Given the description of an element on the screen output the (x, y) to click on. 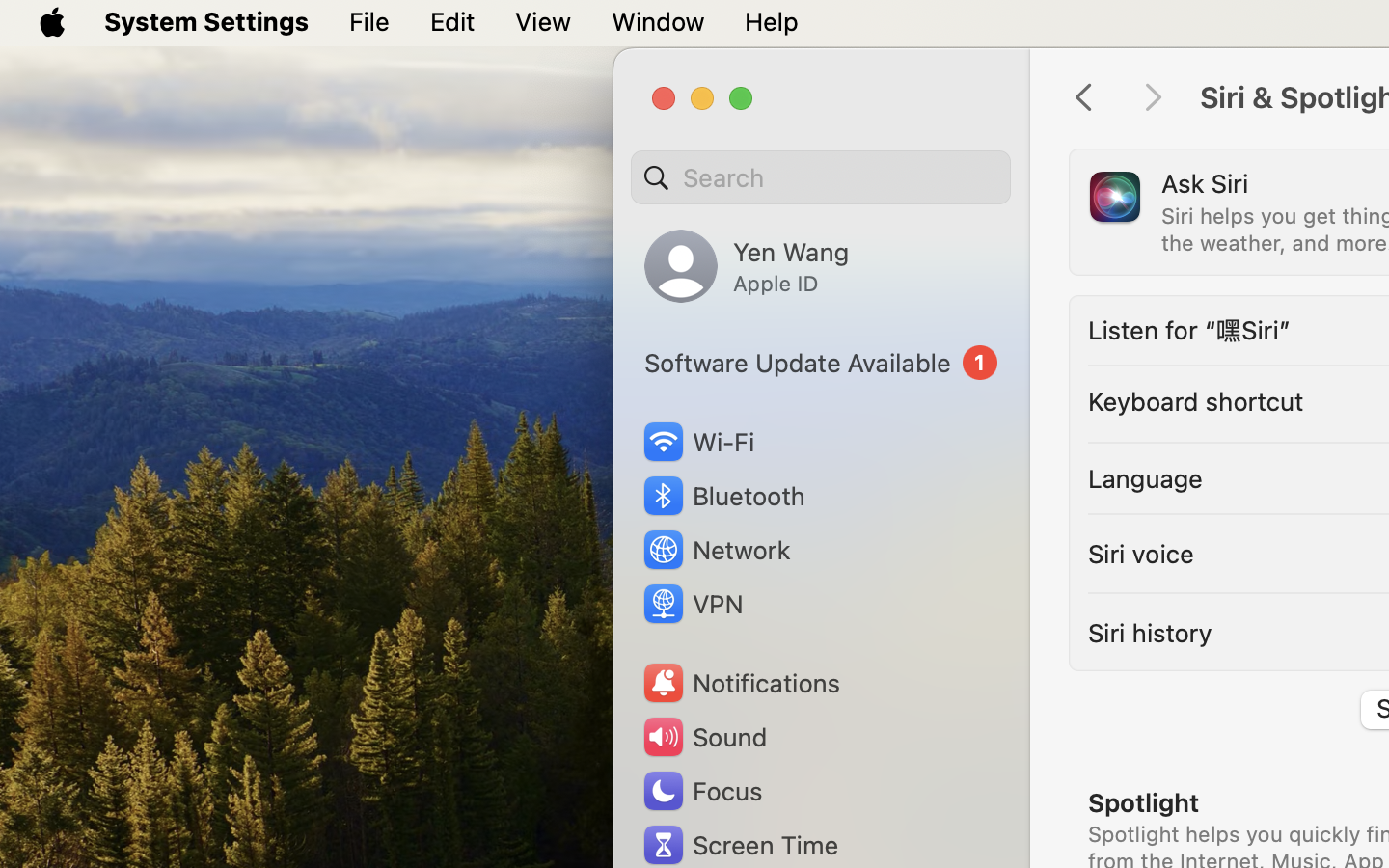
Keyboard shortcut Element type: AXStaticText (1196, 400)
VPN Element type: AXStaticText (691, 603)
Sound Element type: AXStaticText (703, 736)
Siri voice Element type: AXStaticText (1141, 553)
Wi‑Fi Element type: AXStaticText (697, 441)
